Given the description of an element on the screen output the (x, y) to click on. 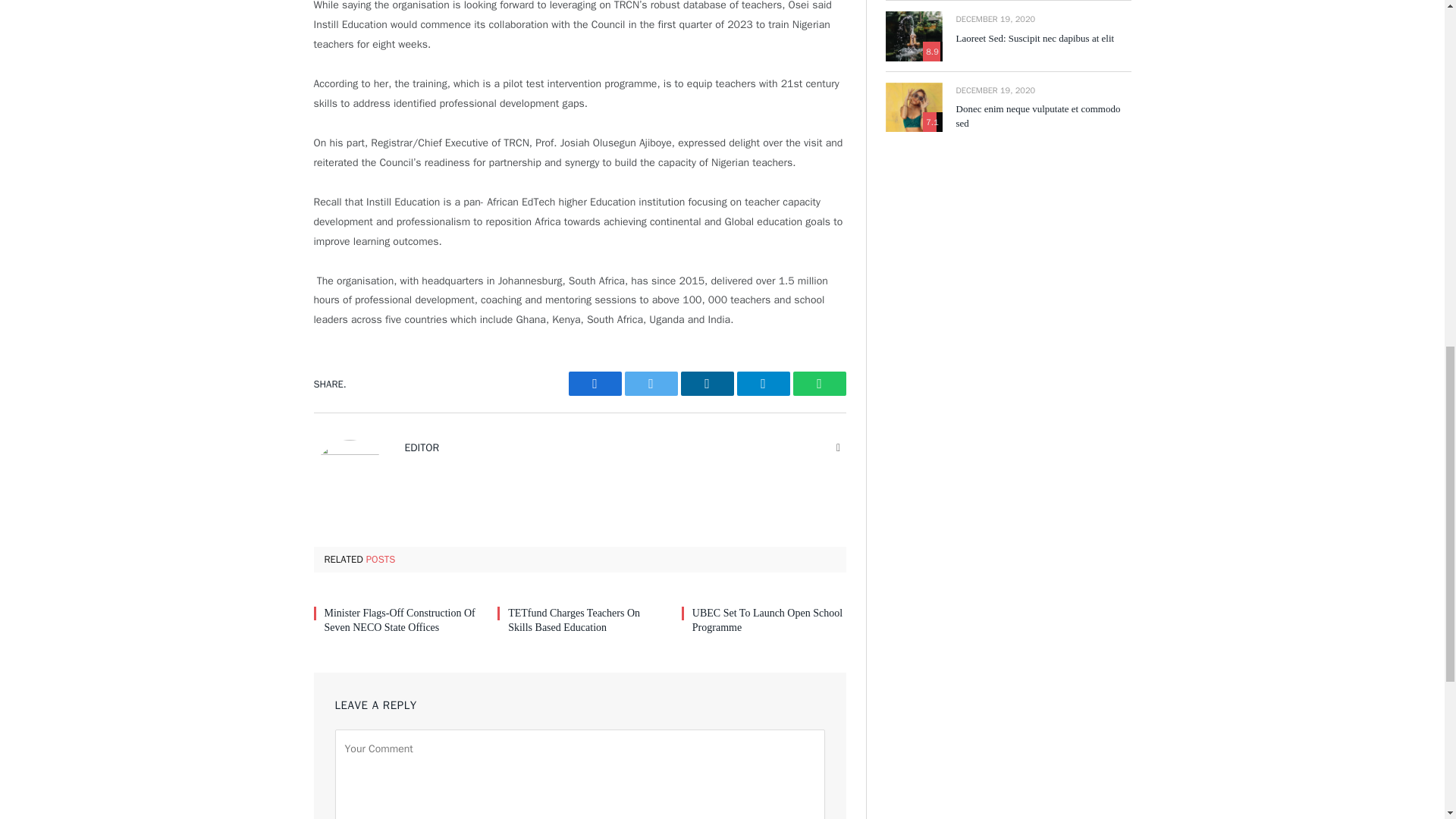
Share on LinkedIn (707, 383)
Share on Twitter (651, 383)
Share on Facebook (595, 383)
